Given the description of an element on the screen output the (x, y) to click on. 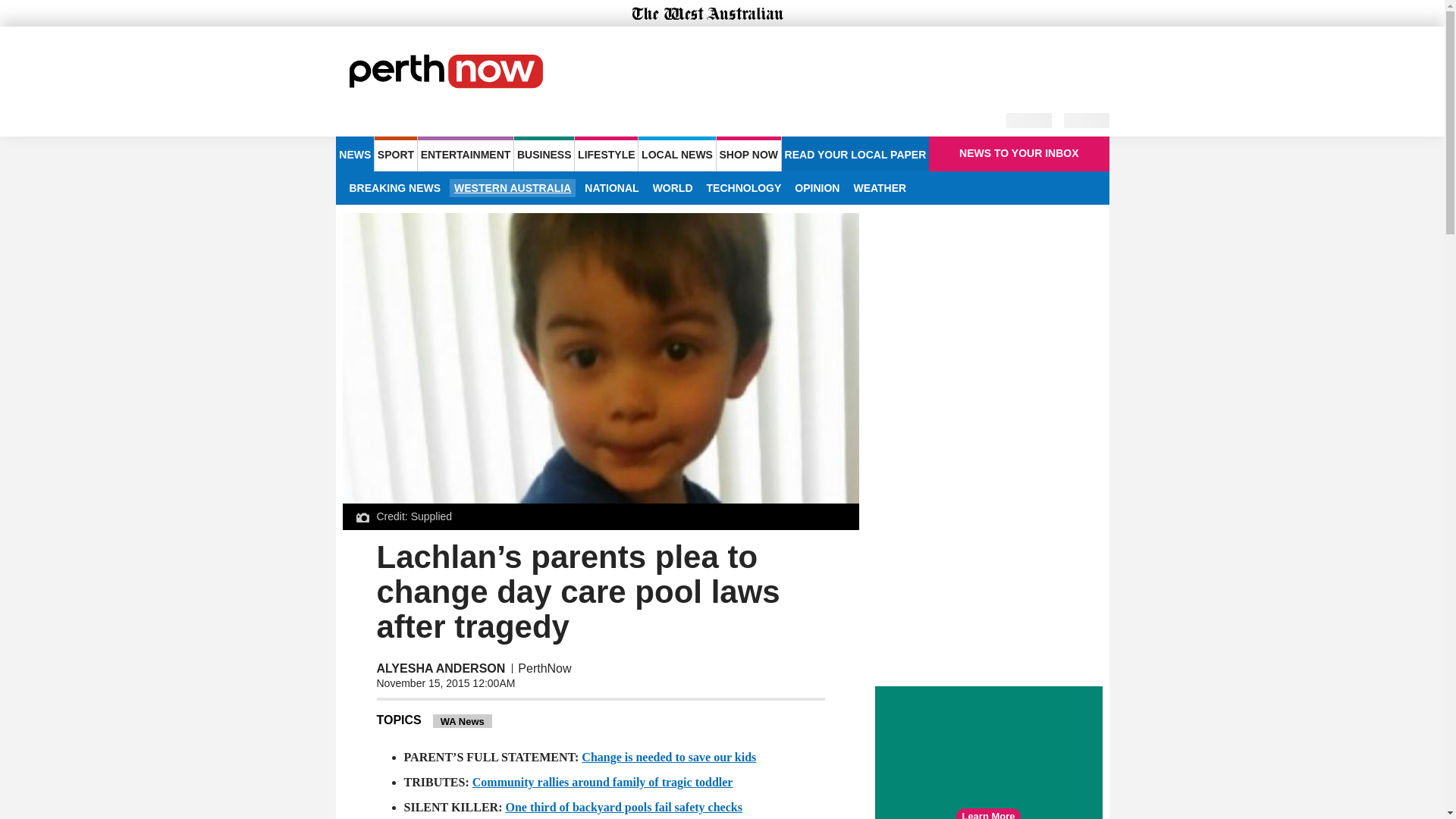
SPORT (395, 153)
ENTERTAINMENT (465, 153)
BUSINESS (543, 153)
NEWS (354, 153)
